Given the description of an element on the screen output the (x, y) to click on. 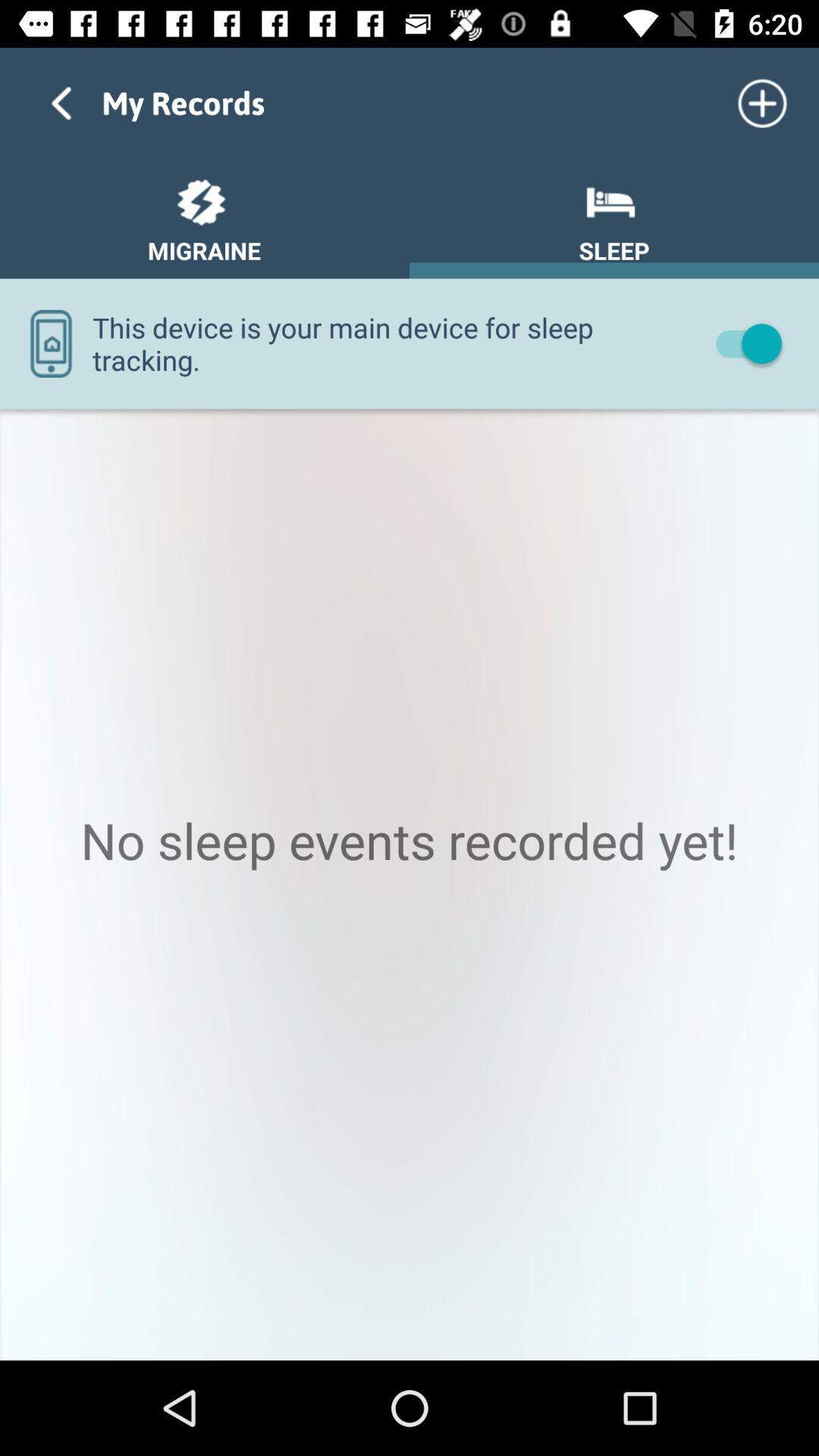
jump to no sleep events (409, 884)
